Given the description of an element on the screen output the (x, y) to click on. 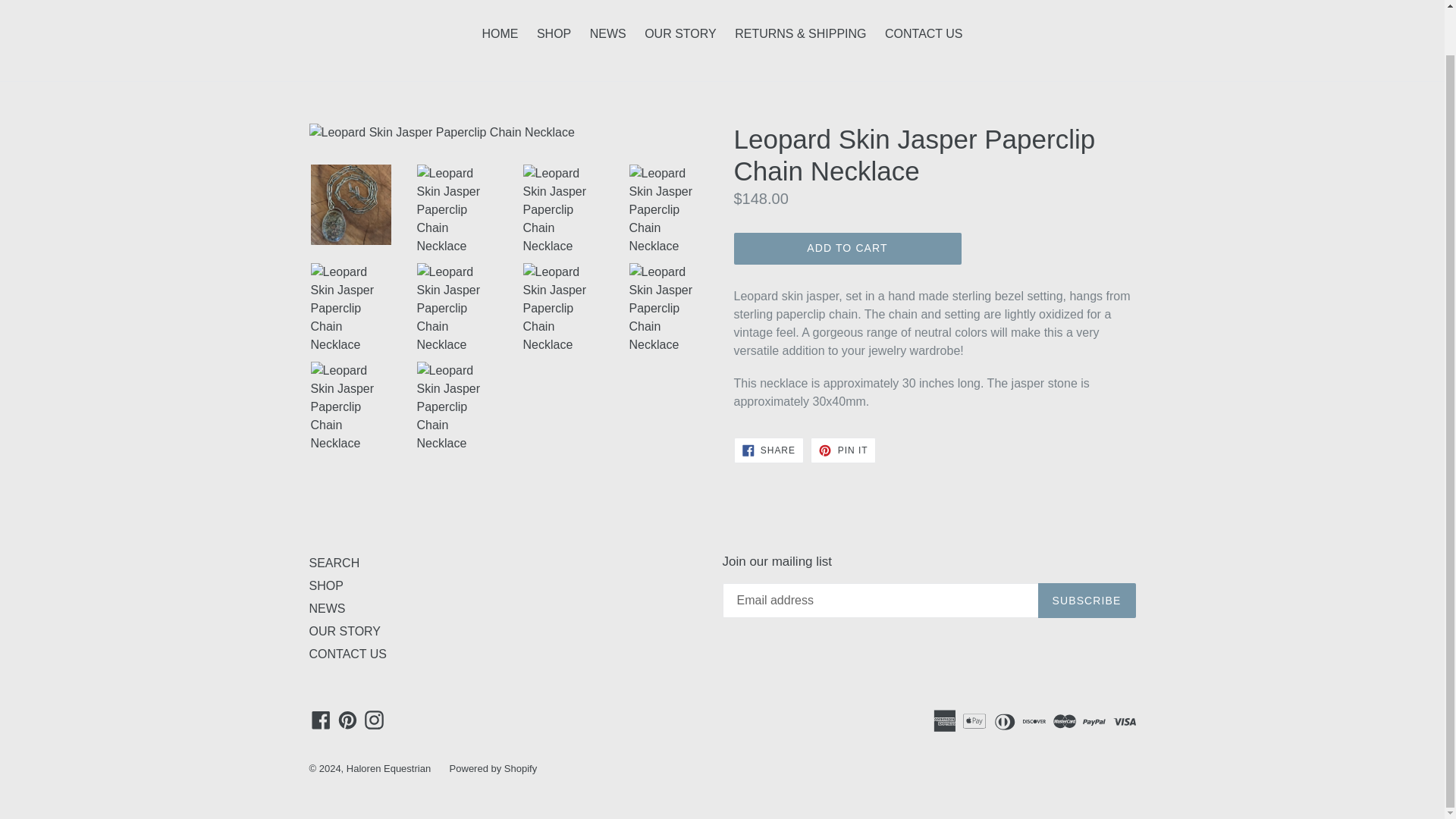
CONTACT US (924, 35)
SHOP (843, 450)
Haloren Equestrian on Pinterest (325, 585)
OUR STORY (347, 719)
Share on Facebook (344, 631)
Pin on Pinterest (768, 450)
Submit (1401, 4)
OUR STORY (843, 450)
